Given the description of an element on the screen output the (x, y) to click on. 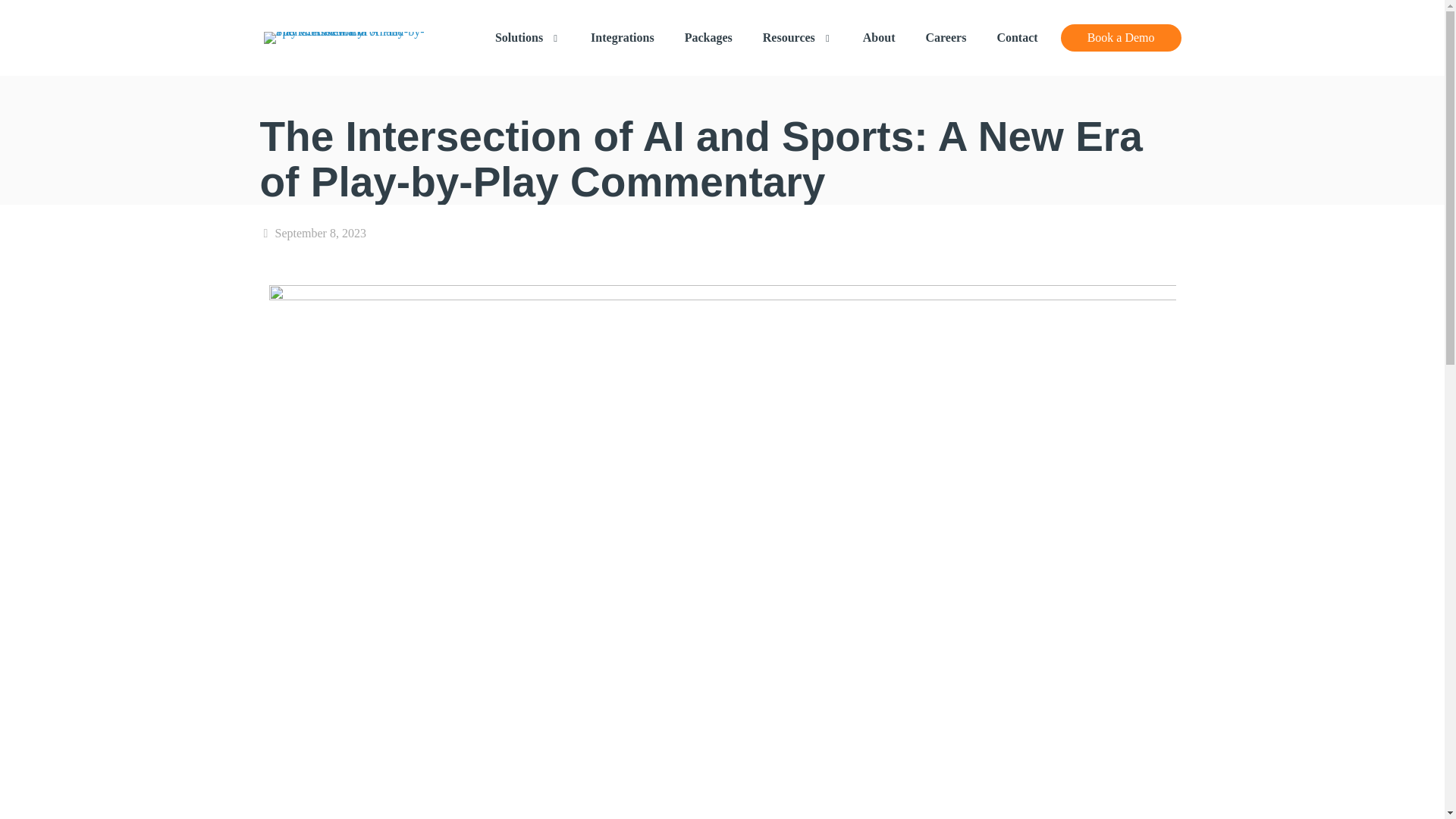
Packages (708, 37)
Solutions (527, 37)
About (879, 37)
Resources (797, 37)
Integrations (622, 37)
